Given the description of an element on the screen output the (x, y) to click on. 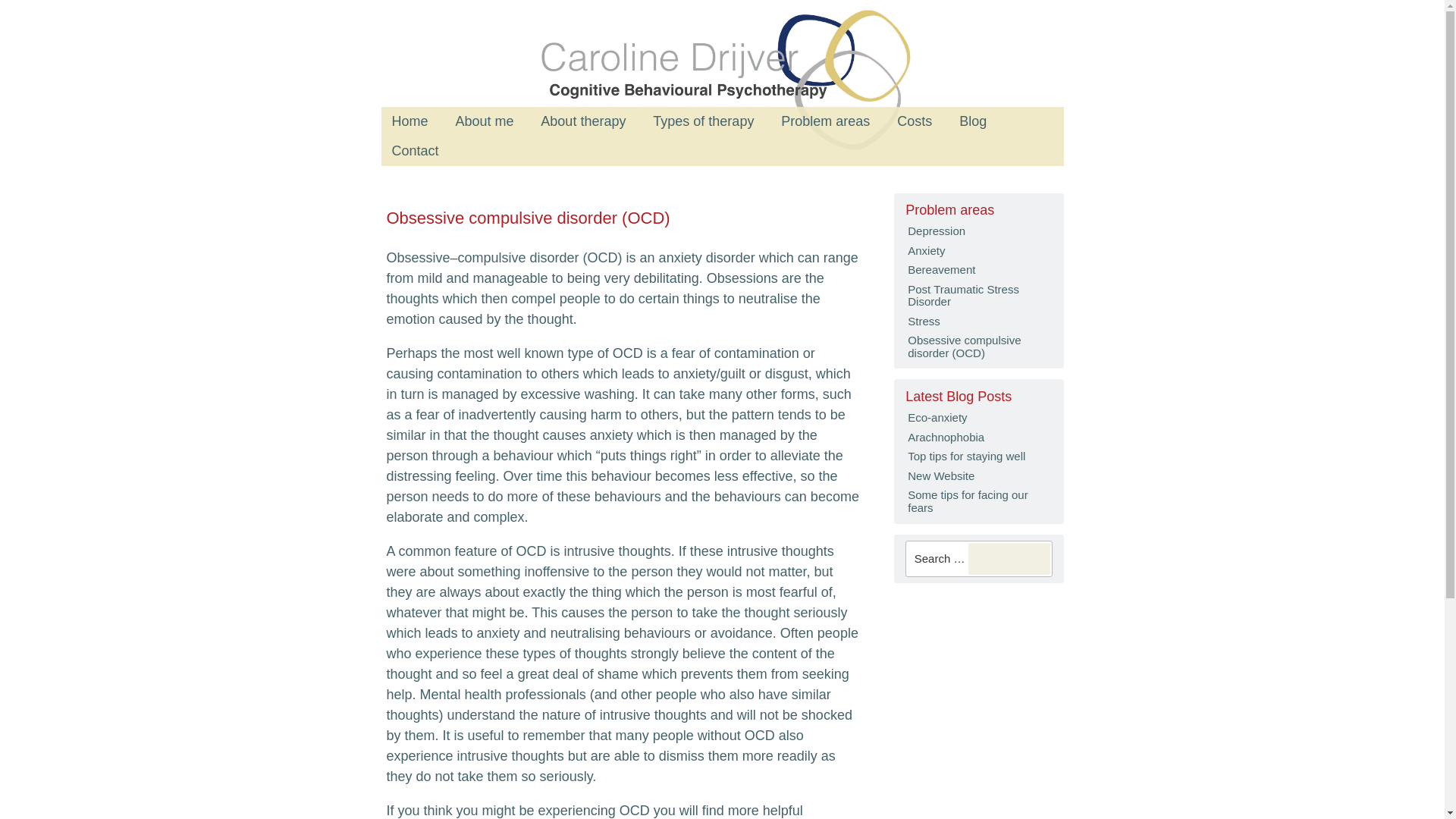
Types of therapy (703, 121)
Anxiety (978, 250)
Blog (972, 121)
Problem areas (978, 210)
Depression (978, 231)
About me (484, 121)
Bereavement (978, 270)
About therapy (583, 121)
Problem areas (825, 121)
Stress (978, 321)
